Given the description of an element on the screen output the (x, y) to click on. 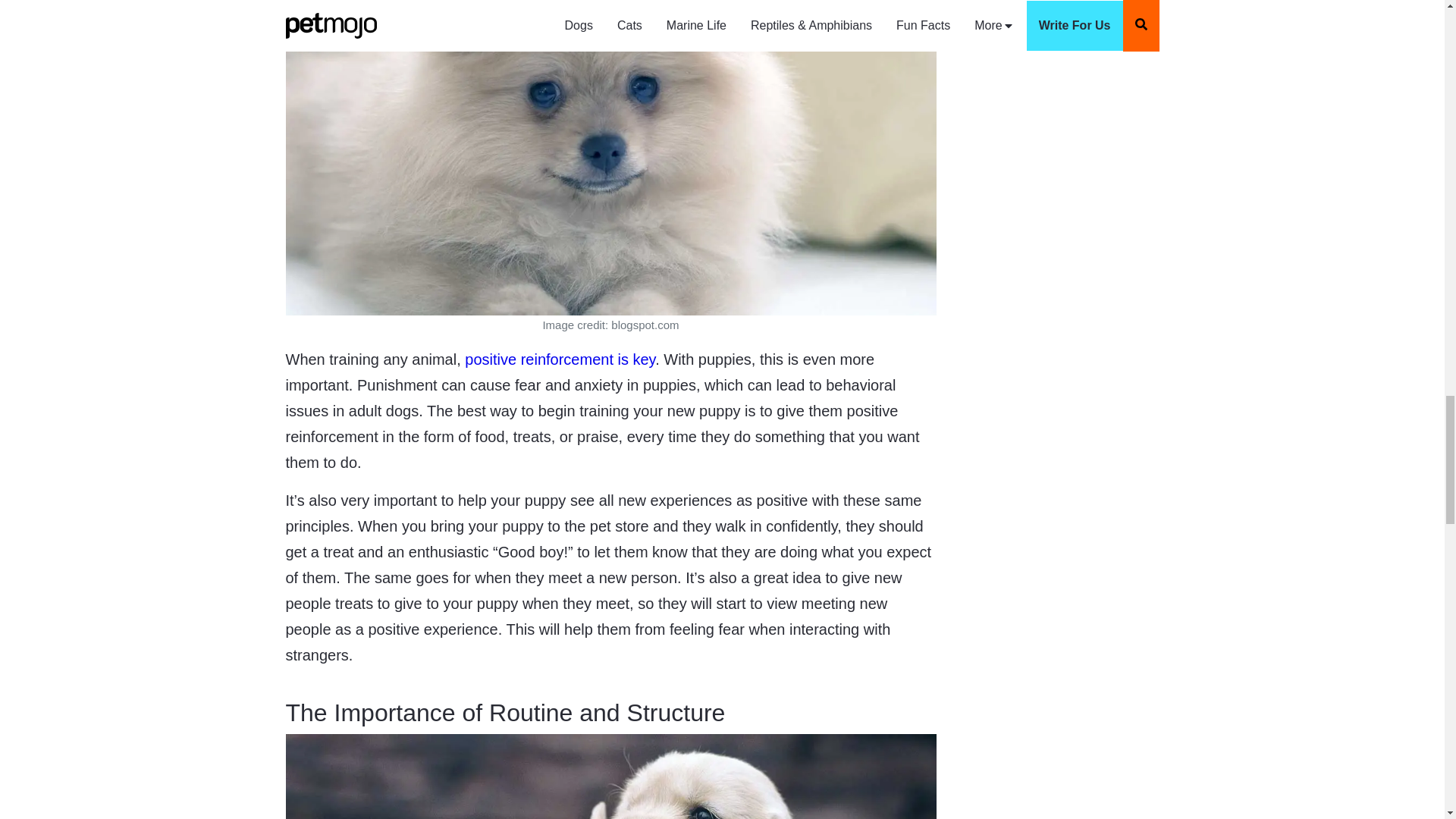
positive reinforcement is key (559, 359)
